Given the description of an element on the screen output the (x, y) to click on. 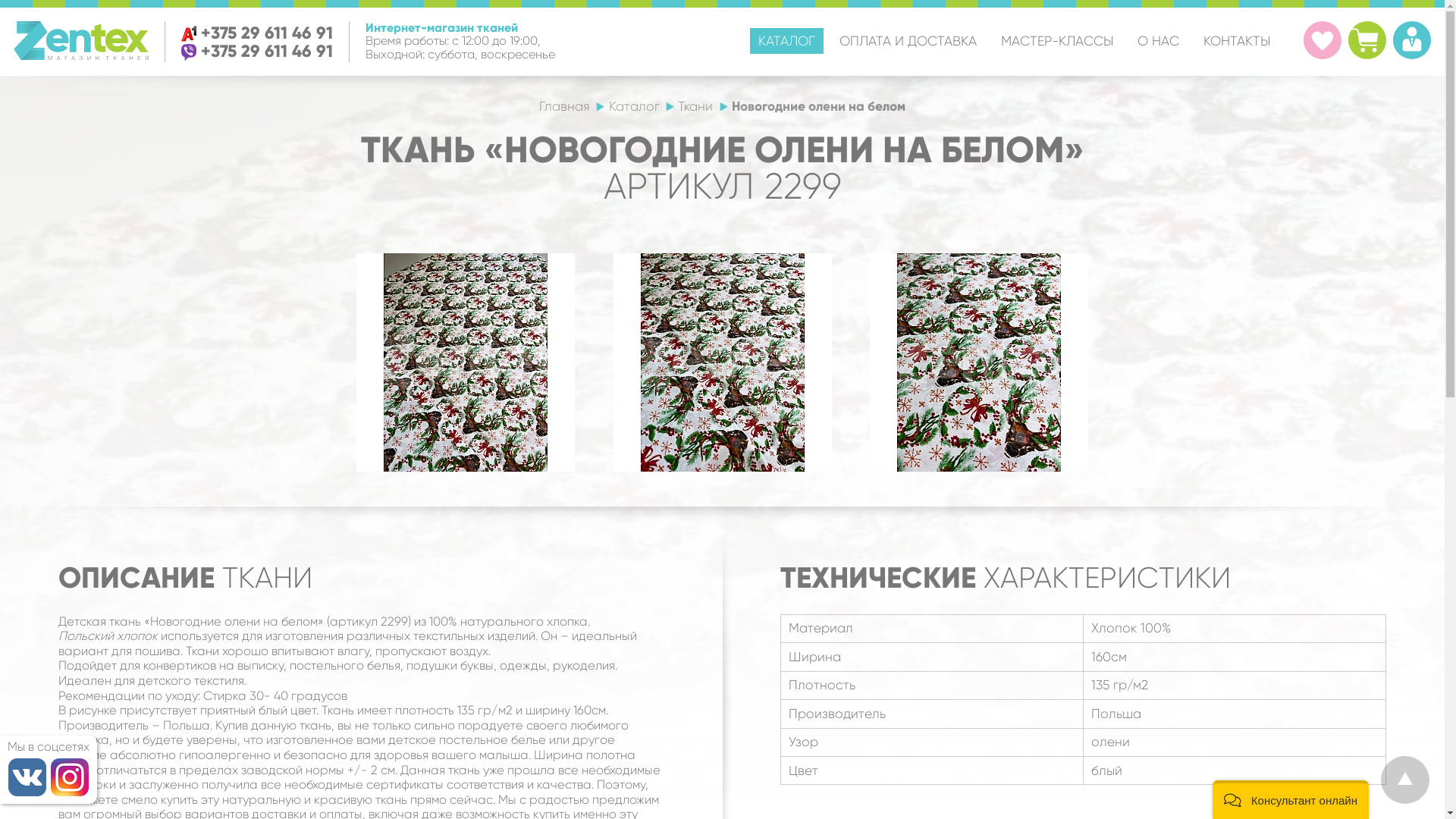
+375 29 611 46 91 Element type: text (266, 32)
